Given the description of an element on the screen output the (x, y) to click on. 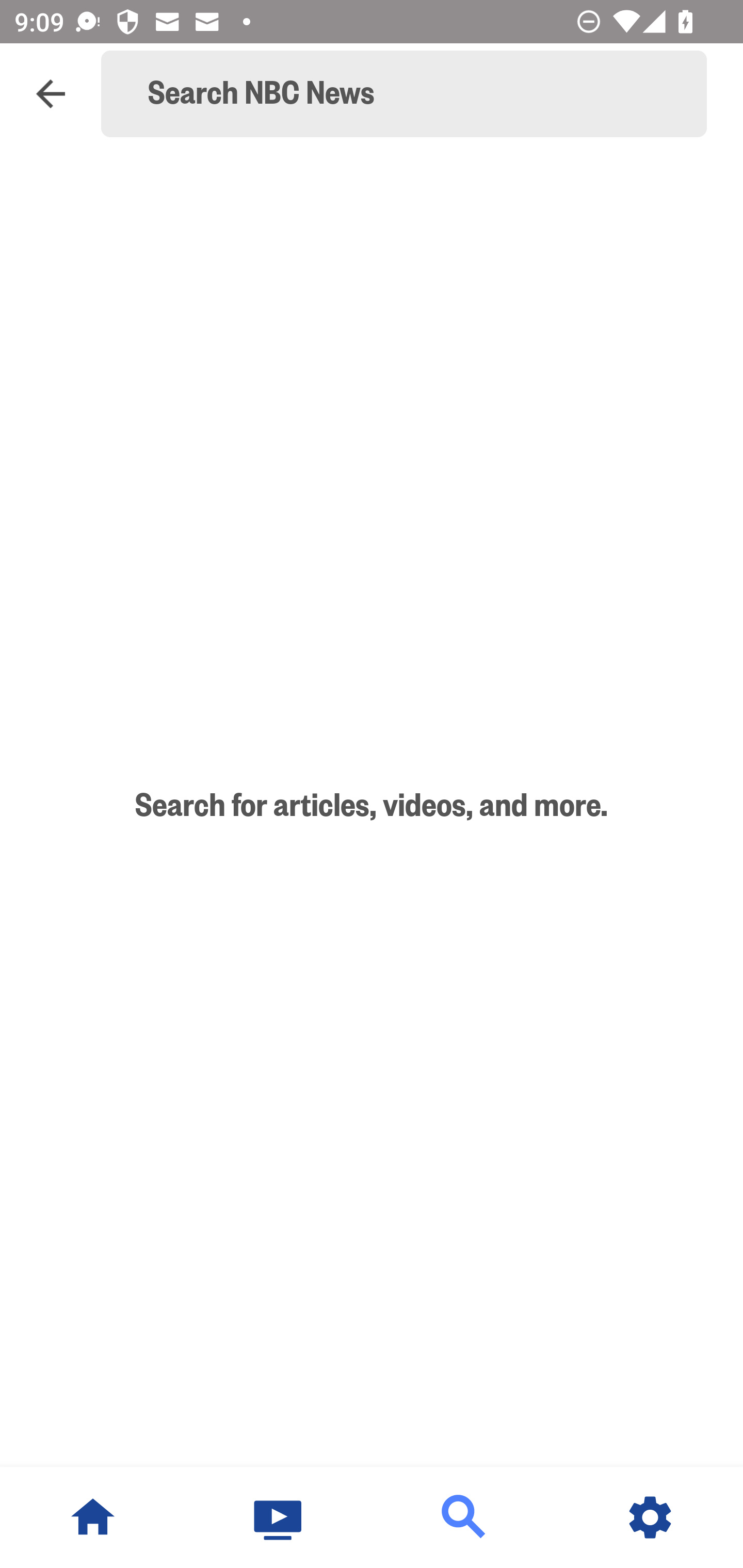
Navigate up (50, 93)
Search NBC News (412, 94)
NBC News Home (92, 1517)
Watch (278, 1517)
Settings (650, 1517)
